Given the description of an element on the screen output the (x, y) to click on. 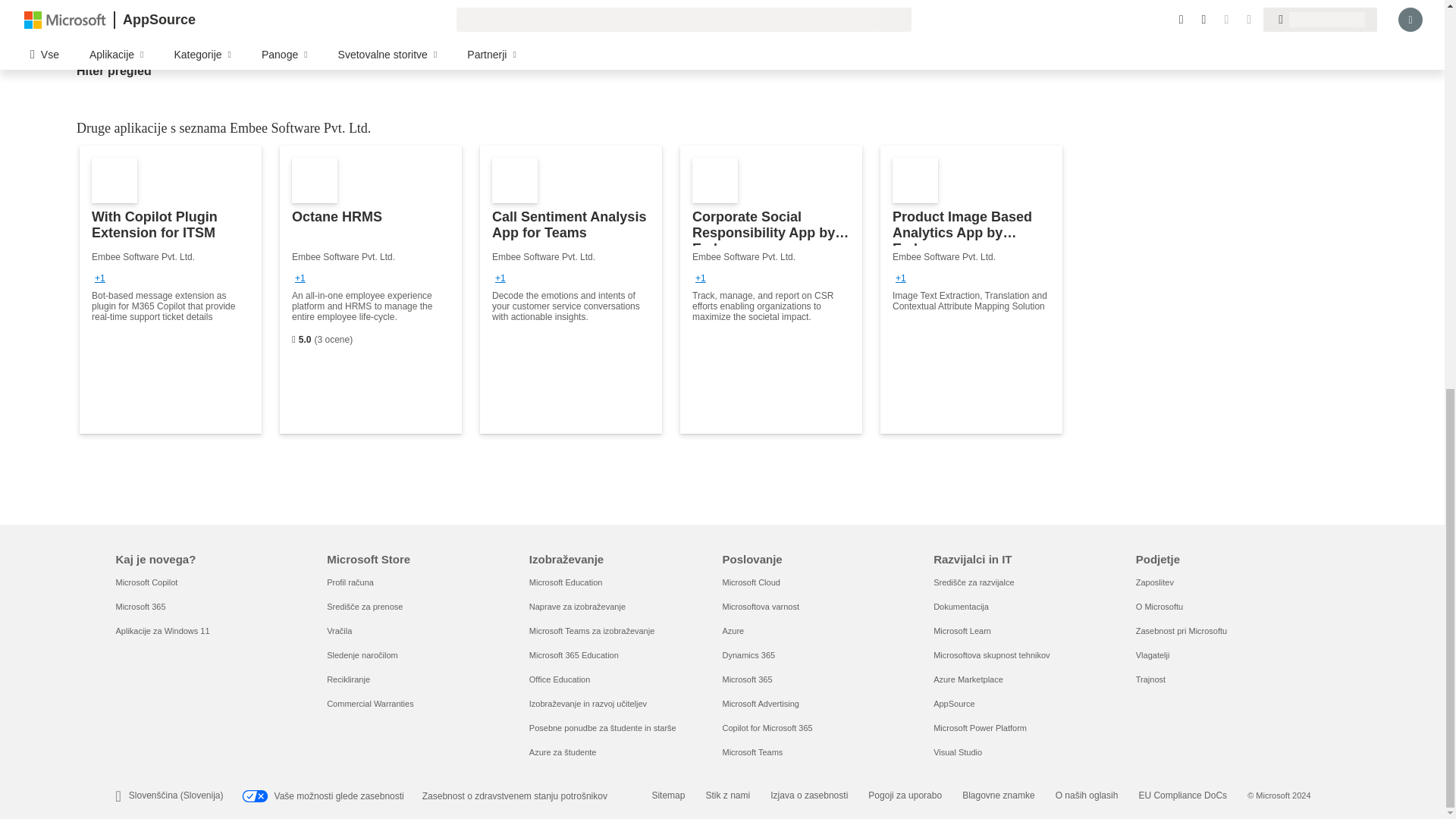
Microsoft 365 (140, 605)
Microsoft 365 Education (573, 655)
Aplikacije za Windows 11 (162, 630)
Commercial Warranties (369, 703)
Office Education (560, 678)
Microsoft Copilot (146, 582)
Microsoft Education (565, 582)
Recikliranje (347, 678)
